Given the description of an element on the screen output the (x, y) to click on. 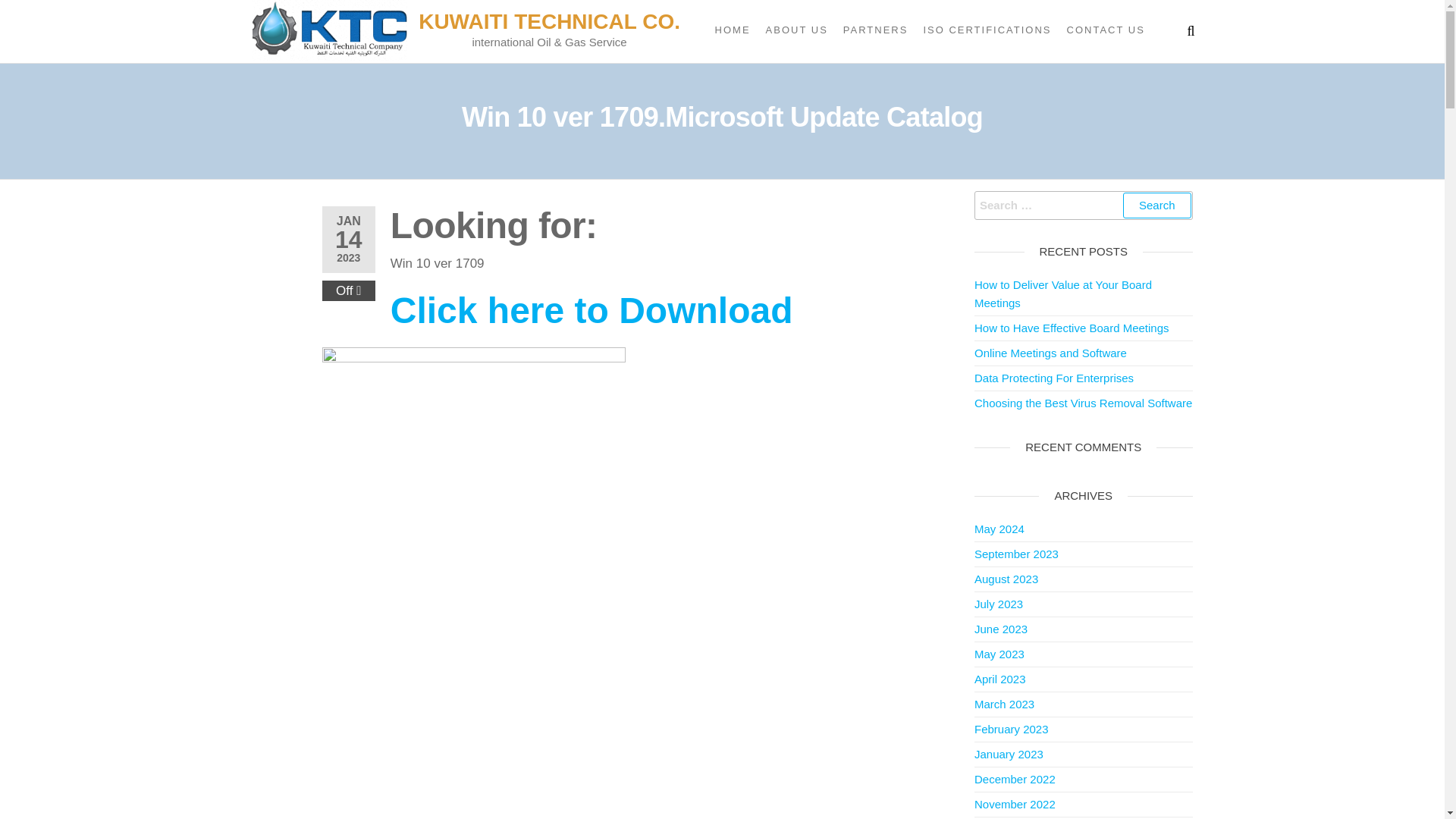
Contact Us (1106, 30)
KUWAITI TECHNICAL CO. (549, 21)
ISO CERTIFICATIONS (986, 30)
April 2023 (1000, 678)
June 2023 (1000, 628)
Click here to Download (591, 318)
Choosing the Best Virus Removal Software (1083, 402)
January 2023 (1008, 753)
Search (1156, 205)
July 2023 (998, 603)
